Given the description of an element on the screen output the (x, y) to click on. 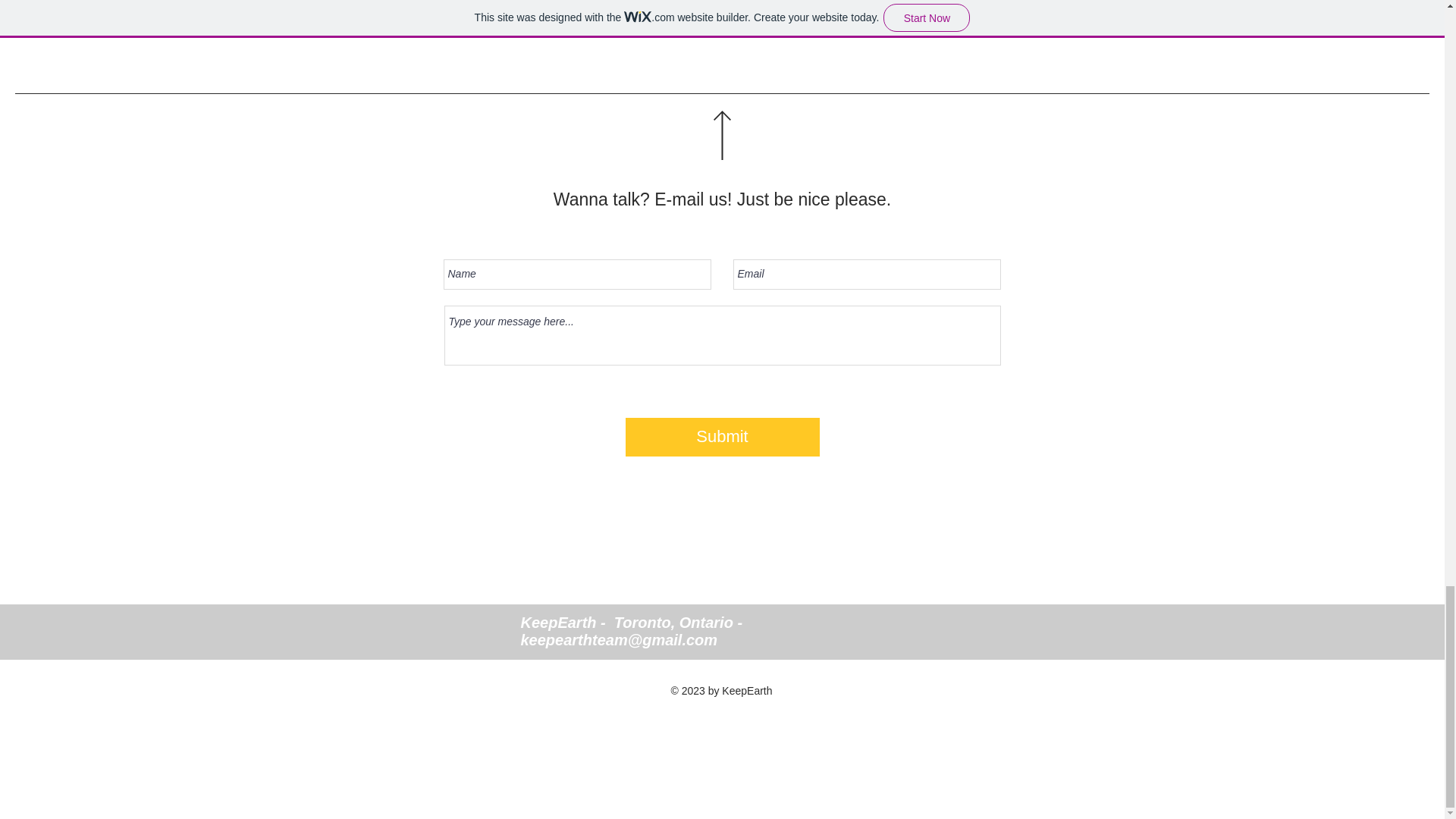
Submit (721, 436)
